Given the description of an element on the screen output the (x, y) to click on. 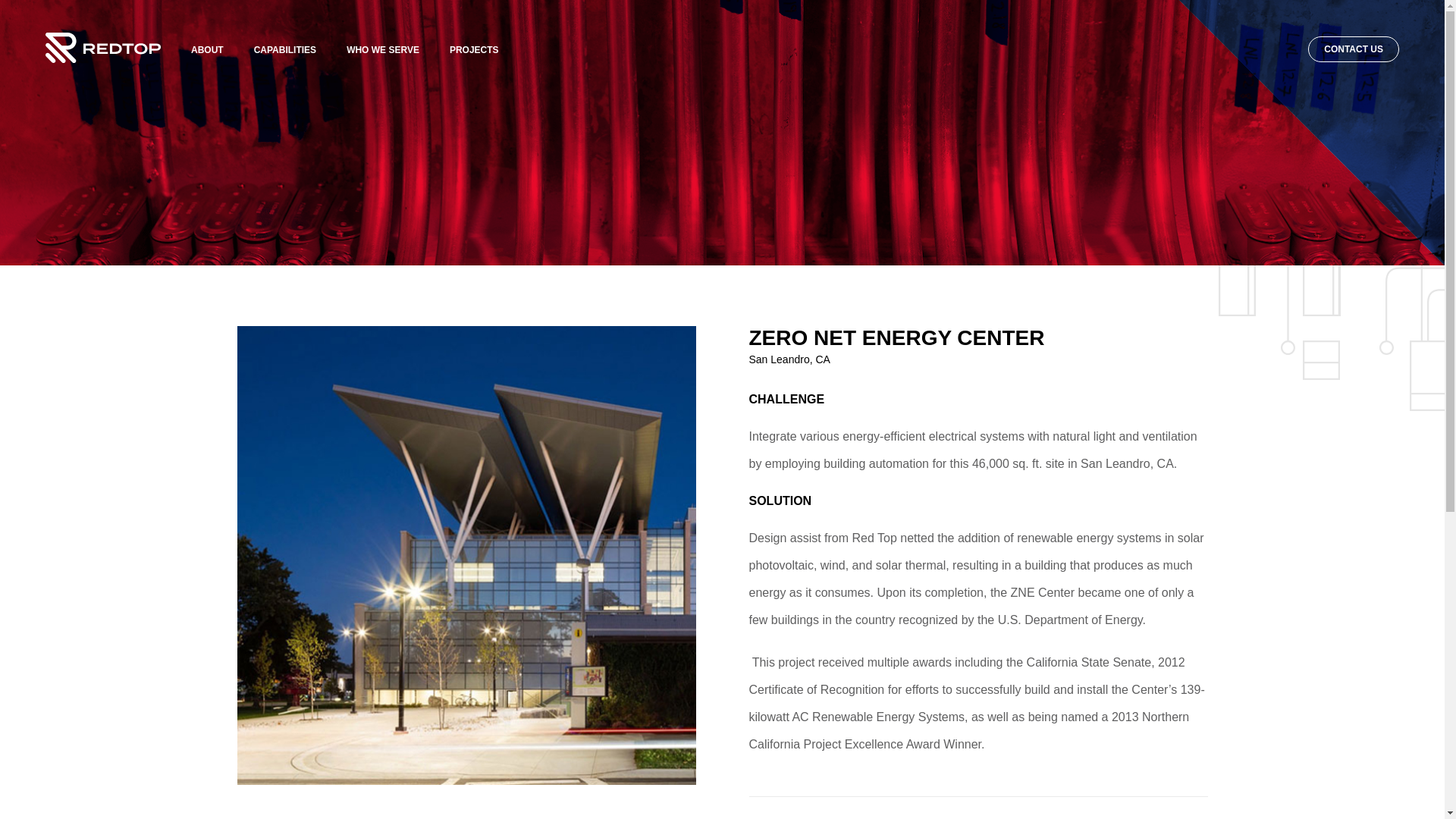
PROJECTS (474, 50)
ABOUT (207, 50)
WHO WE SERVE (382, 50)
CAPABILITIES (284, 50)
CONTACT US (1353, 49)
Red Top (102, 58)
